Given the description of an element on the screen output the (x, y) to click on. 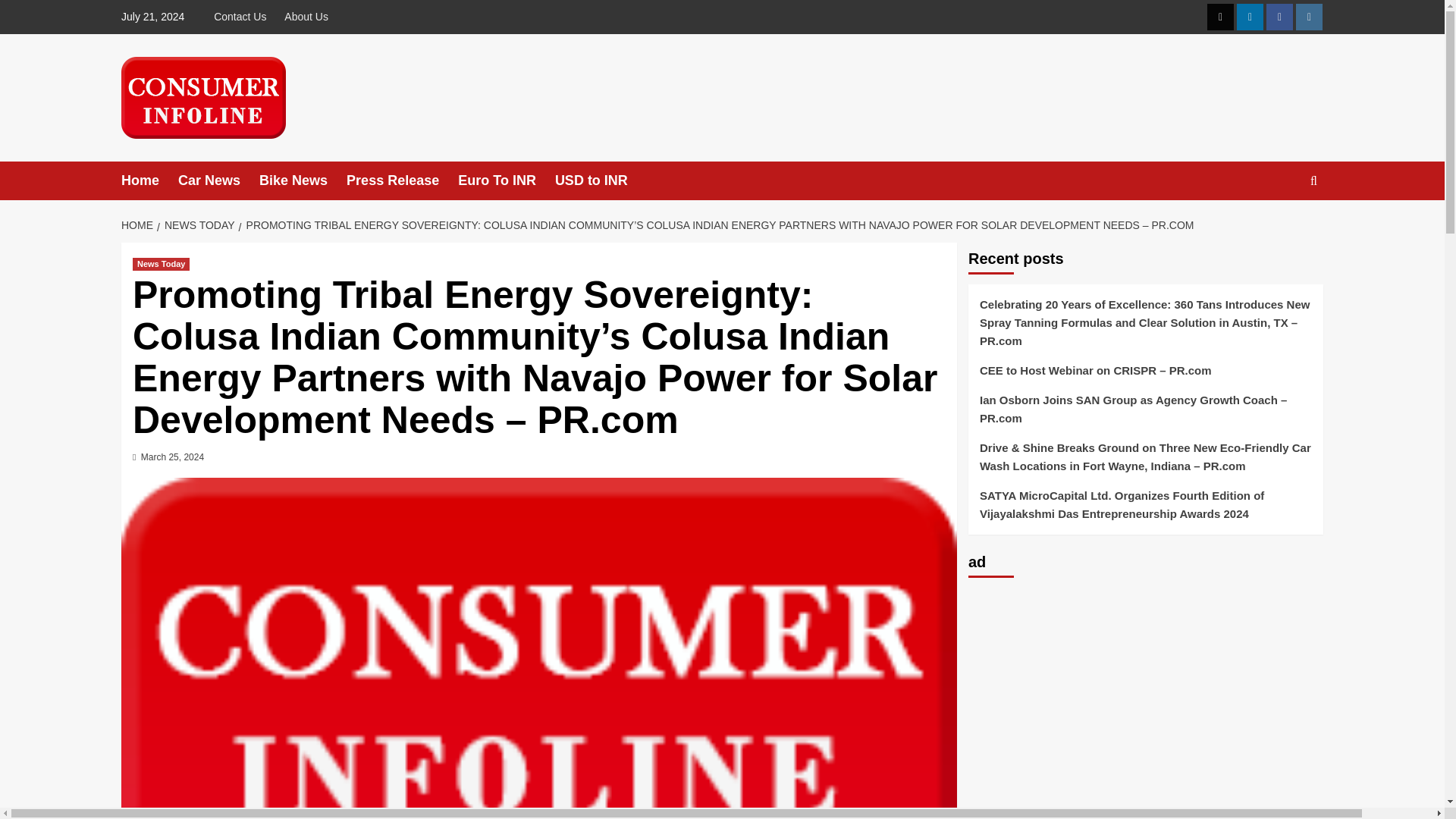
Instagram (1308, 17)
Search (1278, 227)
Car News (218, 180)
Linkedin (1249, 17)
Facebook (1279, 17)
HOME (138, 224)
About Us (306, 17)
Press Release (402, 180)
March 25, 2024 (172, 457)
NEWS TODAY (197, 224)
Twitter (1220, 17)
News Today (160, 264)
Contact Us (243, 17)
Euro To INR (506, 180)
USD to INR (600, 180)
